Given the description of an element on the screen output the (x, y) to click on. 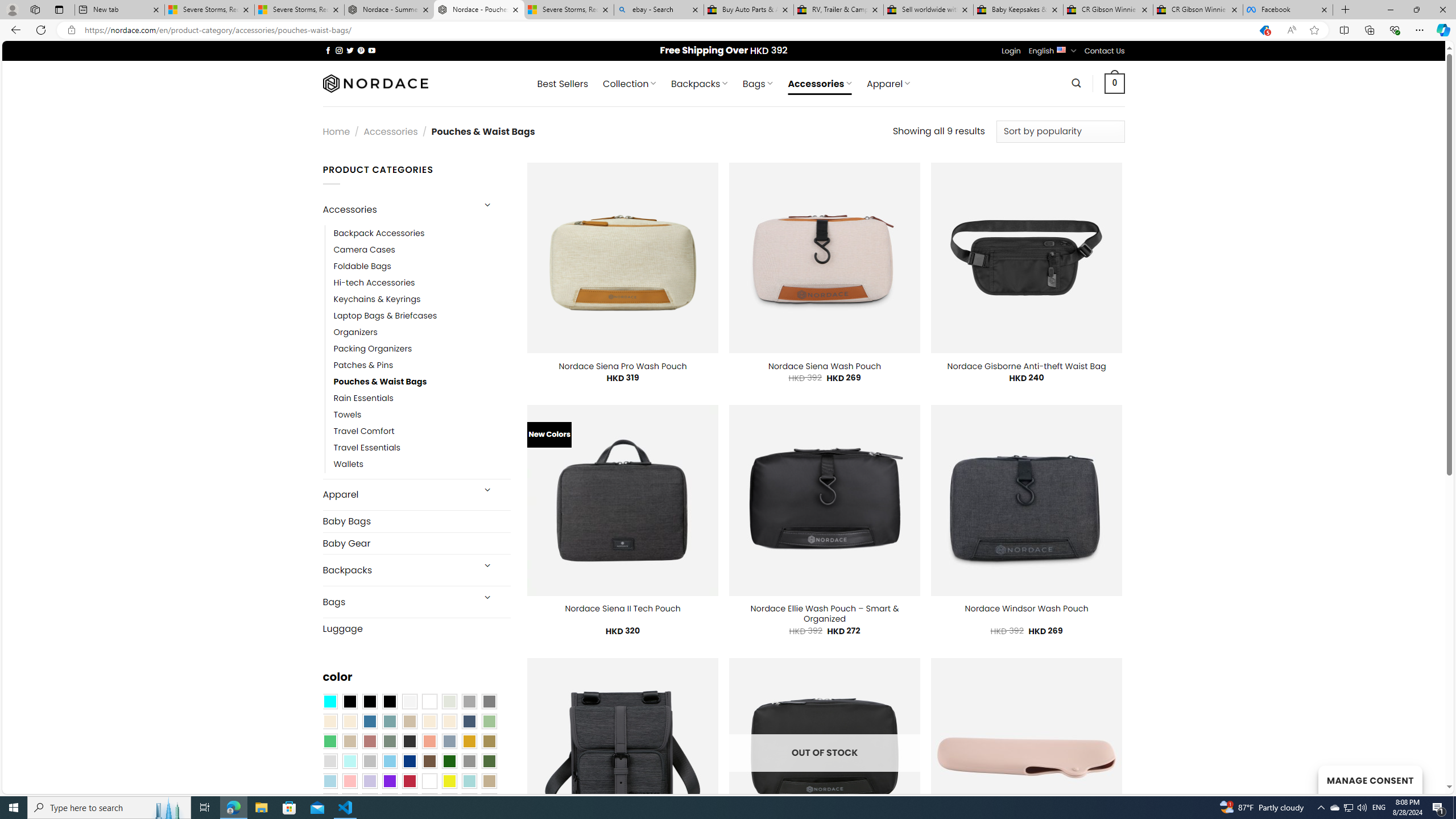
Follow on Twitter (349, 49)
Sky Blue (389, 761)
Beige-Brown (349, 721)
Travel Essentials (422, 448)
Light Taupe (349, 741)
Light Purple (369, 780)
 0  (1115, 83)
Clear (429, 701)
Follow on Pinterest (360, 49)
Contact Us (1104, 50)
  0   (1115, 83)
Hi-tech Accessories (422, 282)
